Given the description of an element on the screen output the (x, y) to click on. 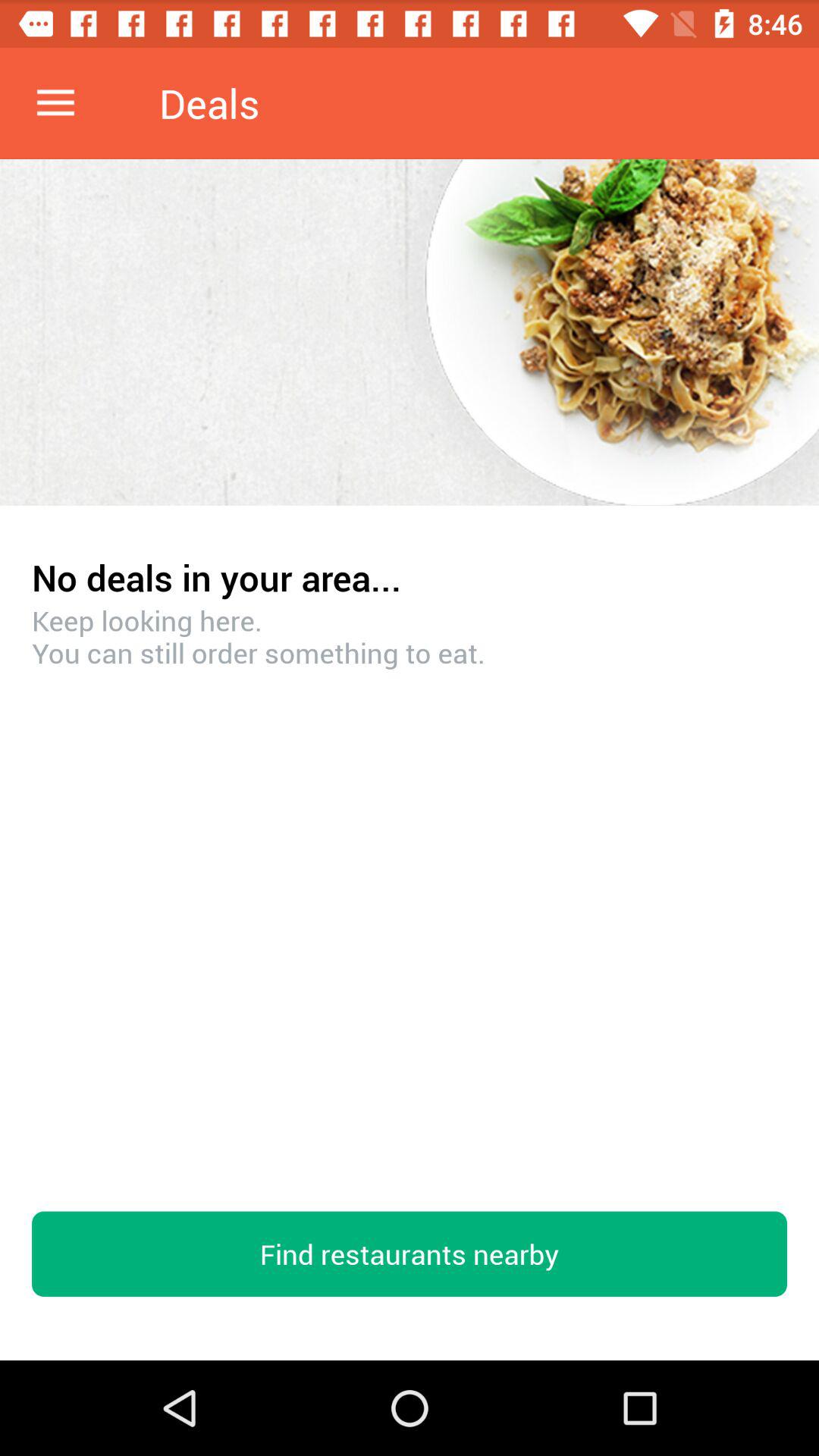
settings (55, 103)
